Given the description of an element on the screen output the (x, y) to click on. 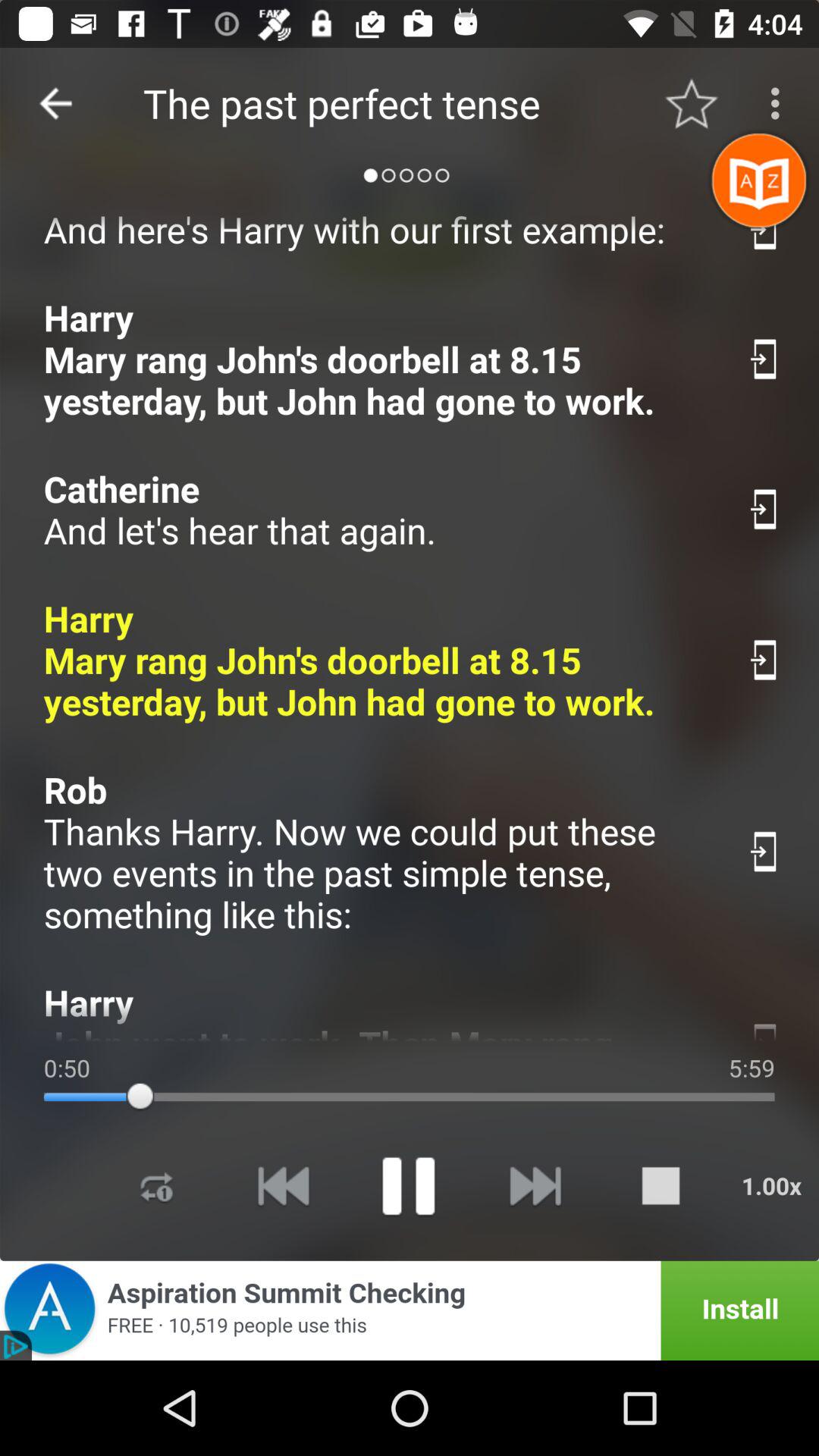
pauses media (408, 1185)
